Given the description of an element on the screen output the (x, y) to click on. 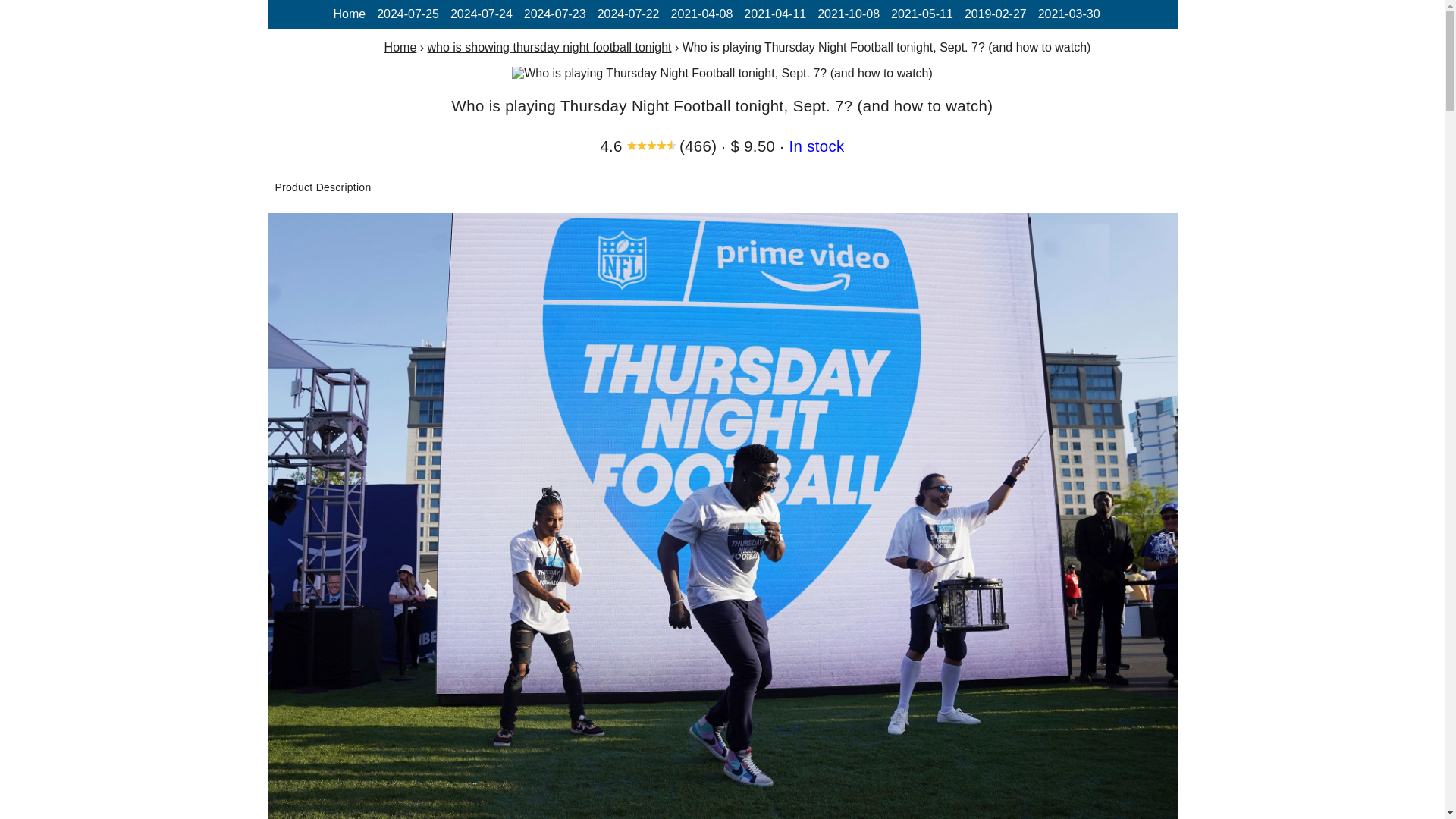
Home (400, 47)
2024-07-25 (408, 13)
2024-07-23 (555, 13)
2021-04-11 (775, 13)
2021-10-08 (847, 13)
who is showing thursday night football tonight (549, 47)
2024-07-22 (627, 13)
Home (349, 13)
2024-07-24 (480, 13)
2021-04-08 (700, 13)
